Given the description of an element on the screen output the (x, y) to click on. 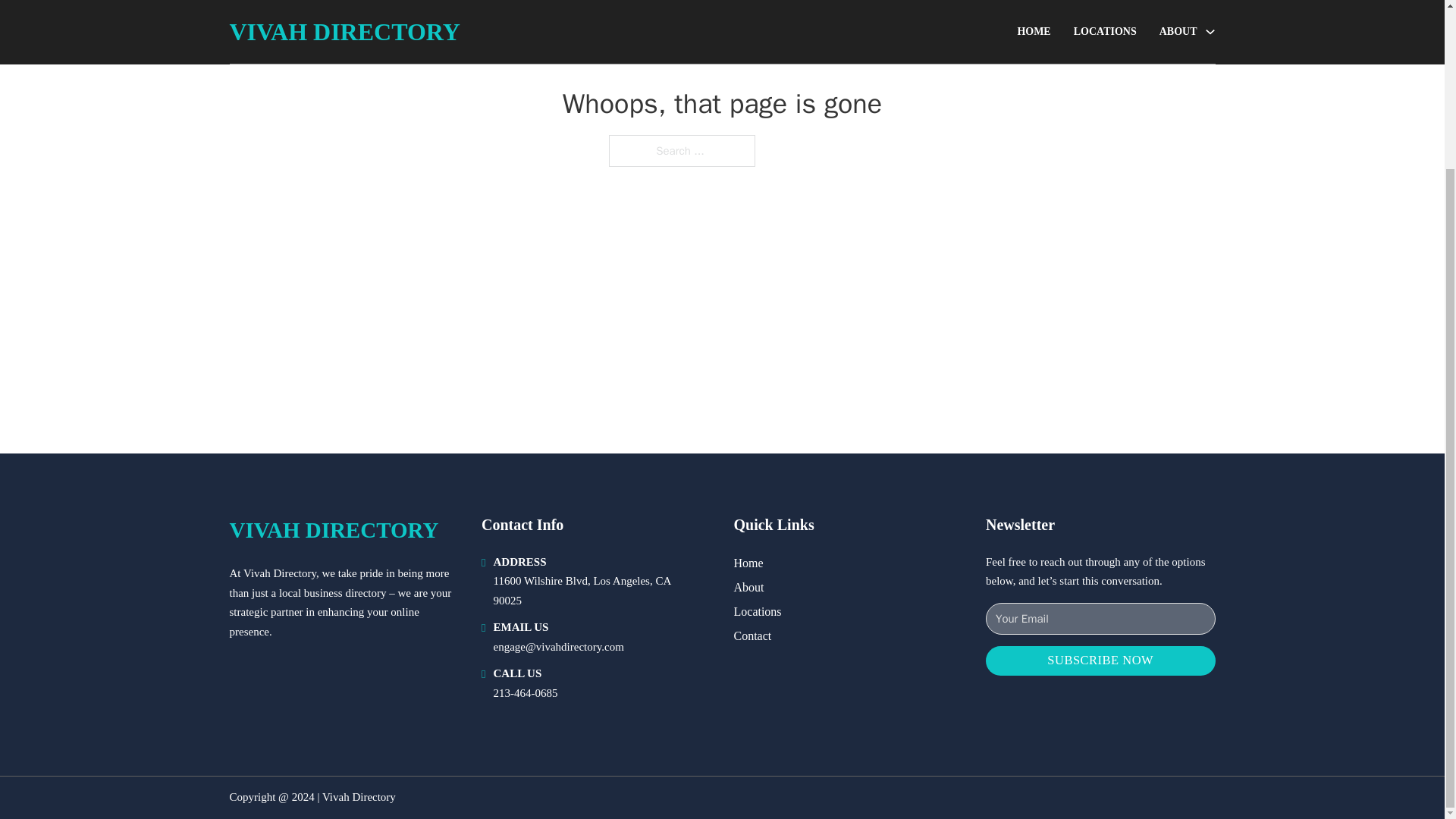
Locations (757, 611)
Home (747, 562)
11600 Wilshire Blvd, Los Angeles, CA 90025 (581, 590)
VIVAH DIRECTORY (333, 529)
About (748, 587)
SUBSCRIBE NOW (1100, 660)
213-464-0685 (525, 693)
Contact (752, 635)
